Given the description of an element on the screen output the (x, y) to click on. 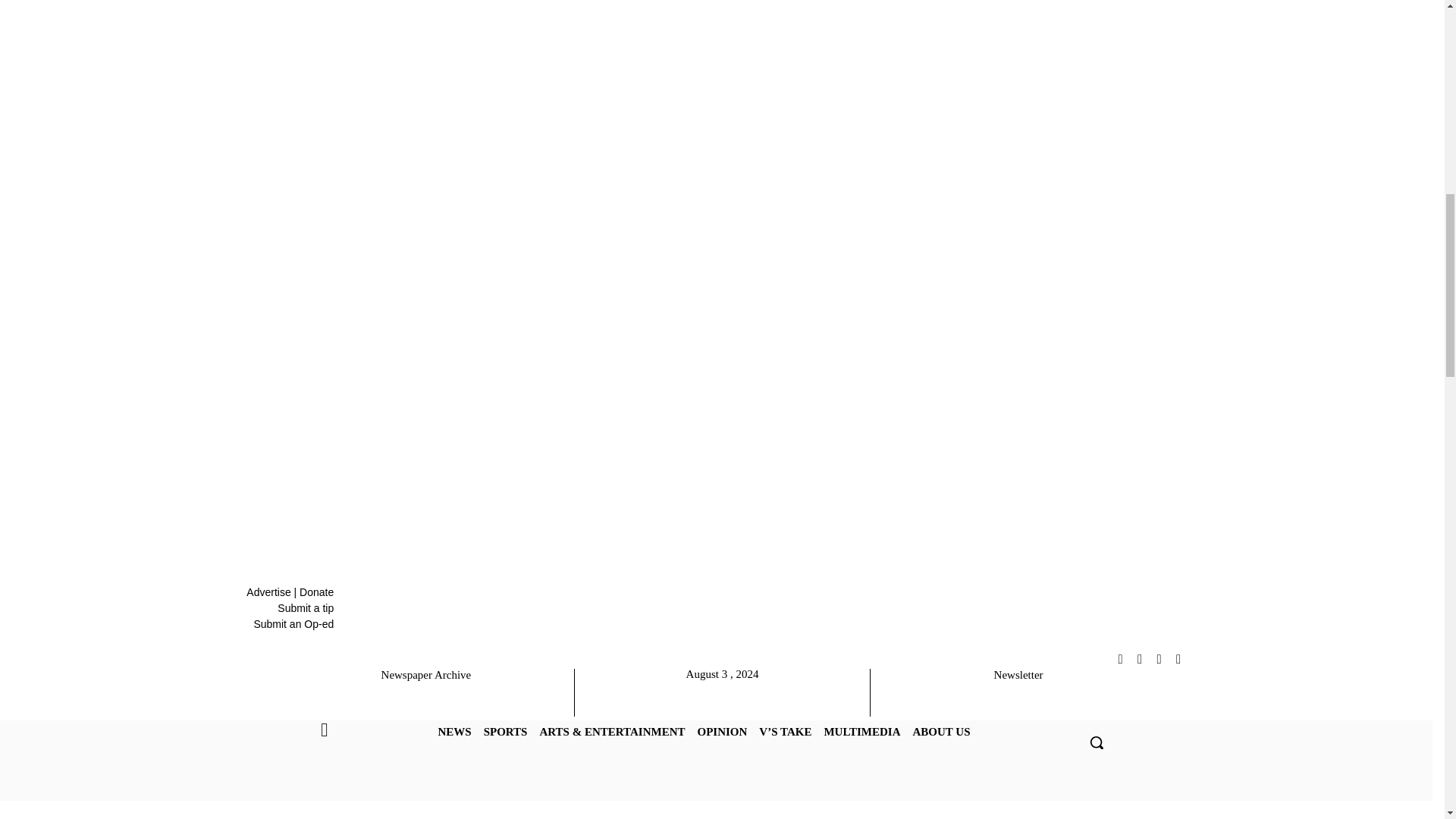
Instagram (1120, 659)
